Given the description of an element on the screen output the (x, y) to click on. 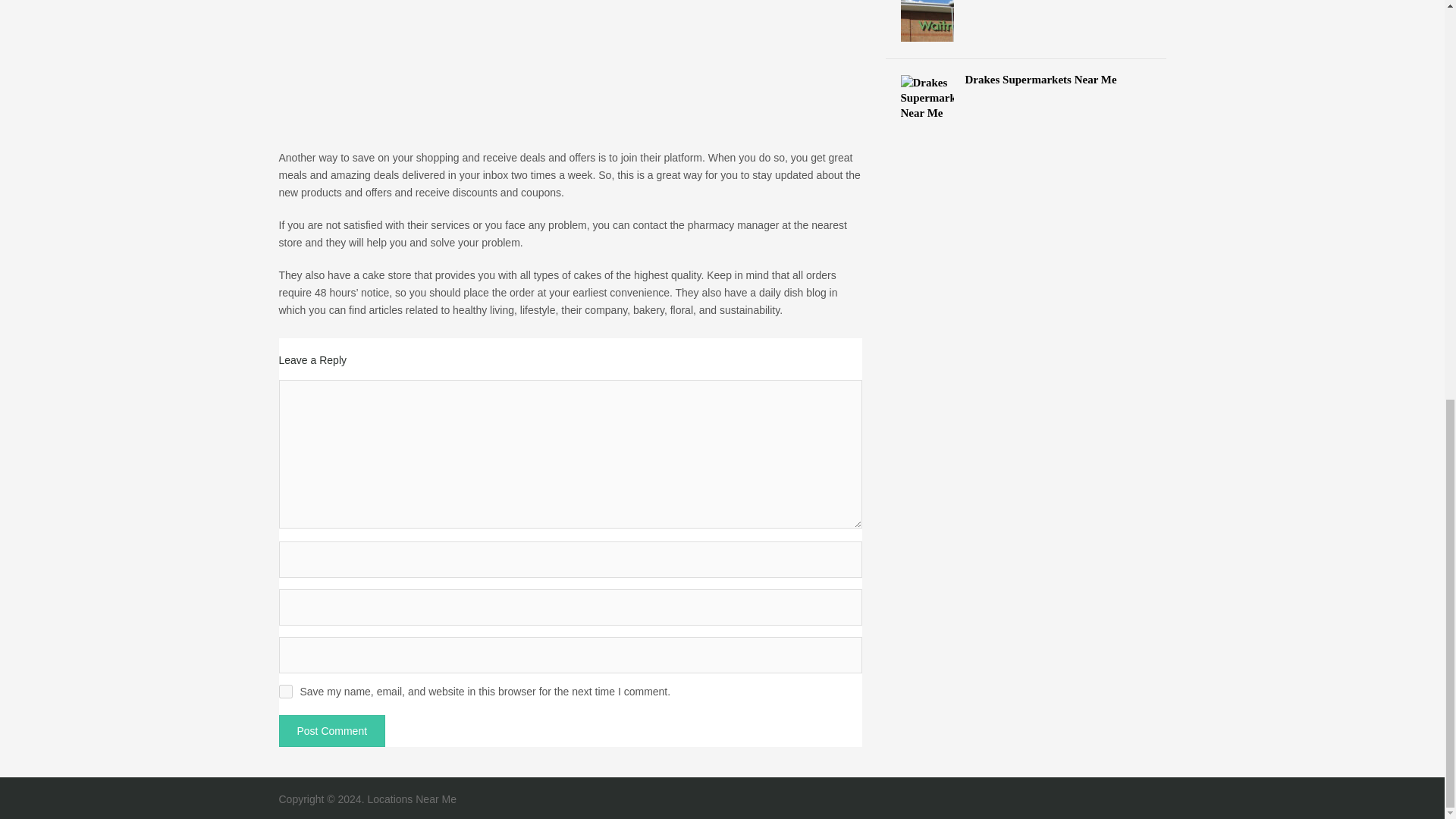
Post Comment (332, 730)
Drakes Supermarkets Near Me (1026, 79)
Post Comment (332, 730)
yes (285, 691)
